Given the description of an element on the screen output the (x, y) to click on. 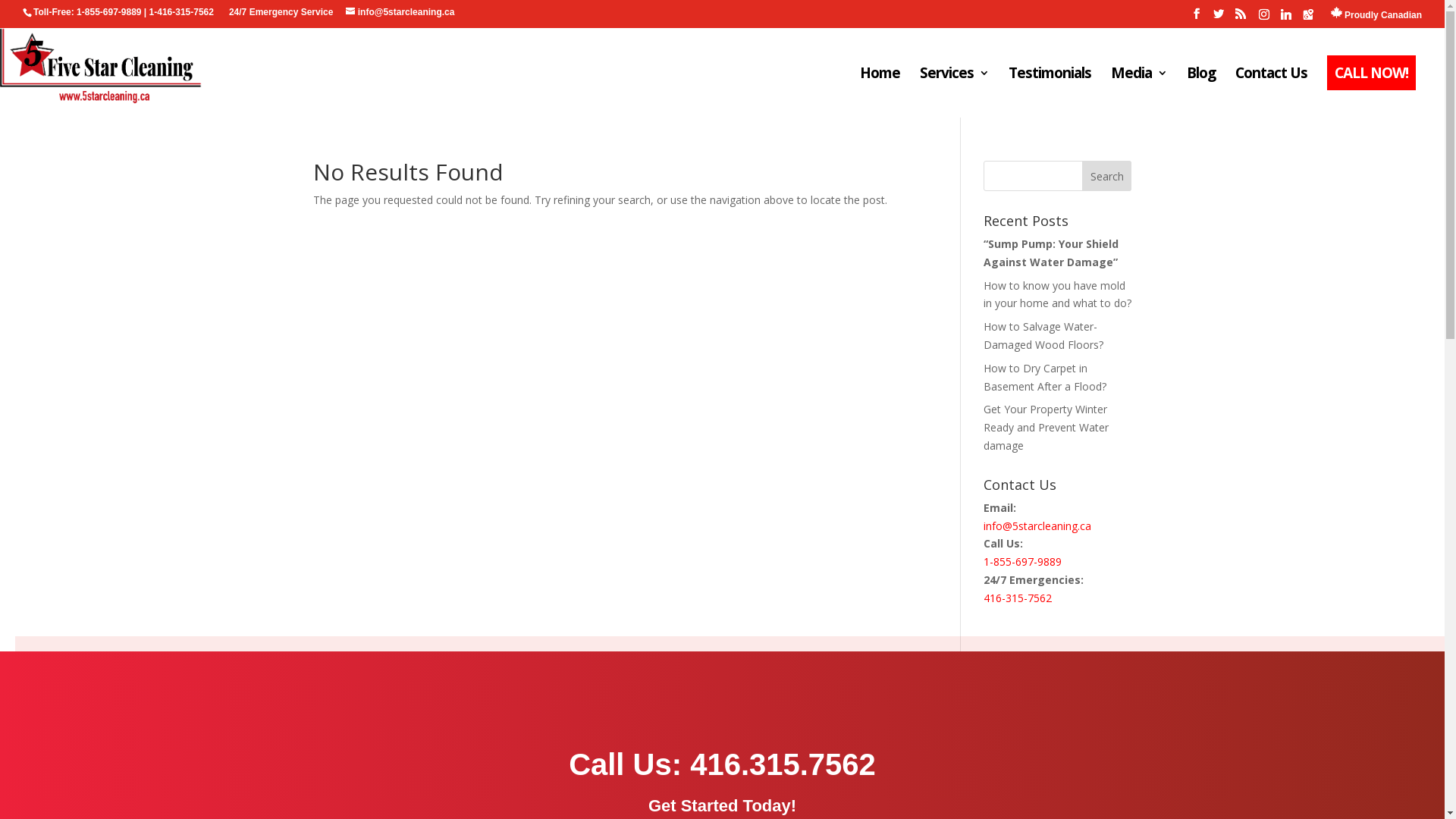
Get Your Property Winter Ready and Prevent Water damage Element type: text (1045, 426)
How to know you have mold in your home and what to do? Element type: text (1057, 294)
Testimonials Element type: text (1049, 91)
Contact Us Element type: text (1271, 91)
How to Dry Carpet in Basement After a Flood? Element type: text (1044, 376)
416-315-7562 Element type: text (1017, 597)
Proudly Canadian Element type: text (1375, 16)
info@5starcleaning.ca Element type: text (1037, 525)
Services Element type: text (953, 91)
CALL NOW! Element type: text (1371, 91)
info@5starcleaning.ca Element type: text (400, 11)
1-855-697-9889 Element type: text (1022, 561)
How to Salvage Water-Damaged Wood Floors? Element type: text (1043, 335)
Home Element type: text (879, 91)
Blog Element type: text (1200, 91)
Media Element type: text (1138, 91)
Search Element type: text (1107, 175)
